Given the description of an element on the screen output the (x, y) to click on. 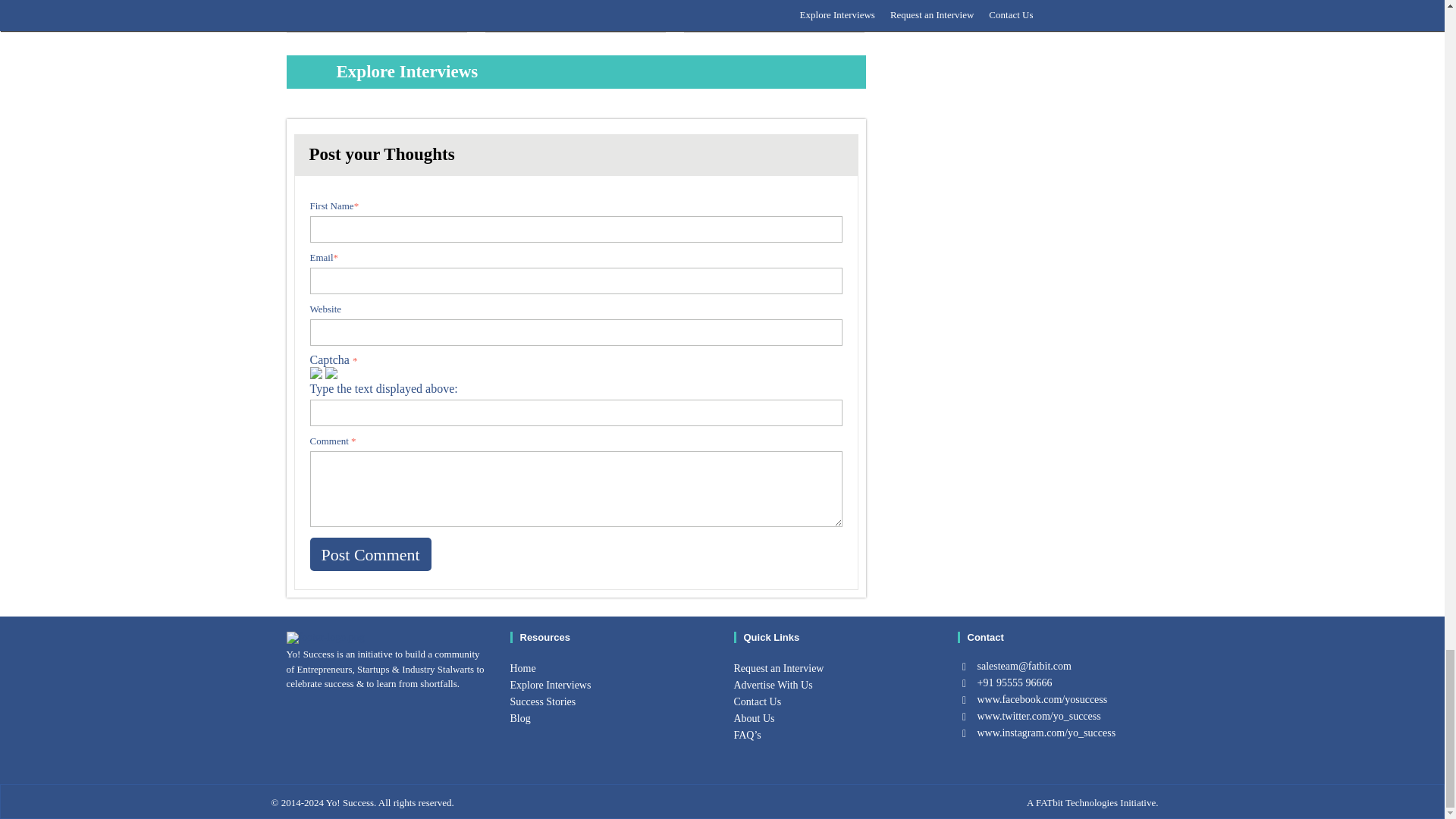
View Interview (617, 12)
View Interview (816, 12)
View Interview (418, 12)
Post Comment (369, 553)
